Given the description of an element on the screen output the (x, y) to click on. 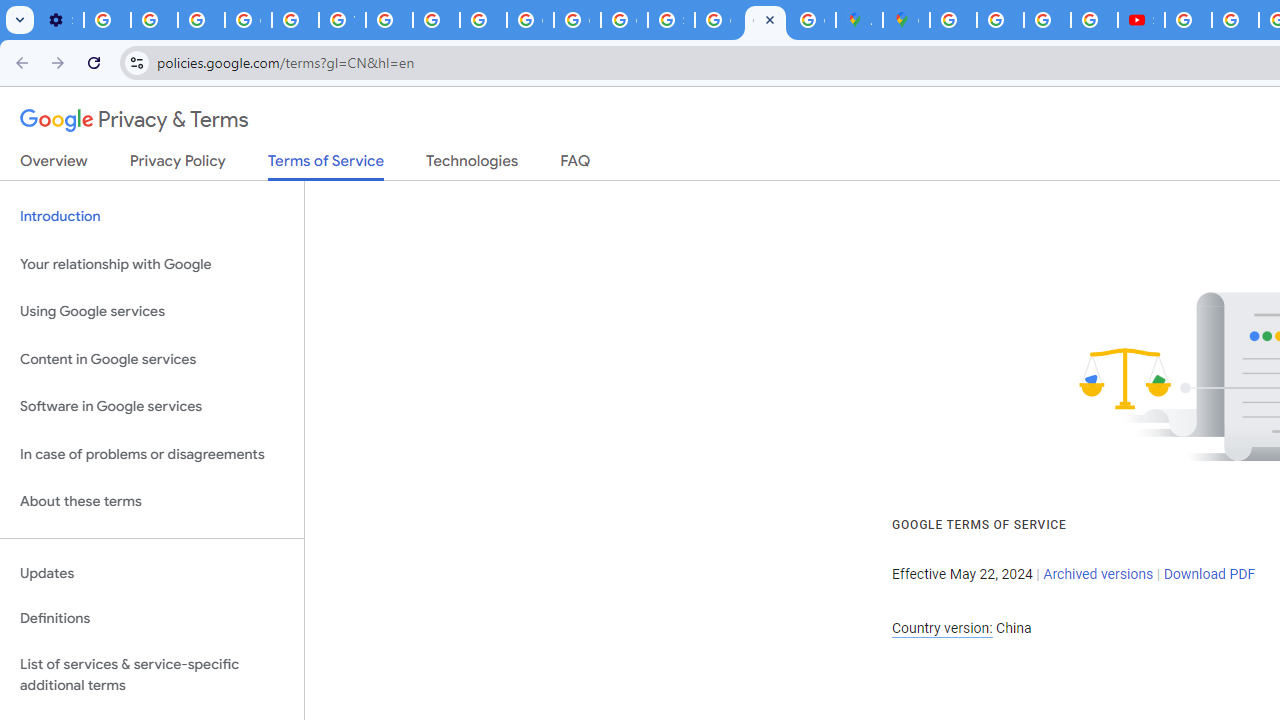
Definitions (152, 619)
Blogger Policies and Guidelines - Transparency Center (953, 20)
Delete photos & videos - Computer - Google Photos Help (107, 20)
Privacy Help Center - Policies Help (436, 20)
Download PDF (1209, 574)
Privacy Help Center - Policies Help (1047, 20)
Subscriptions - YouTube (1140, 20)
https://scholar.google.com/ (389, 20)
